Given the description of an element on the screen output the (x, y) to click on. 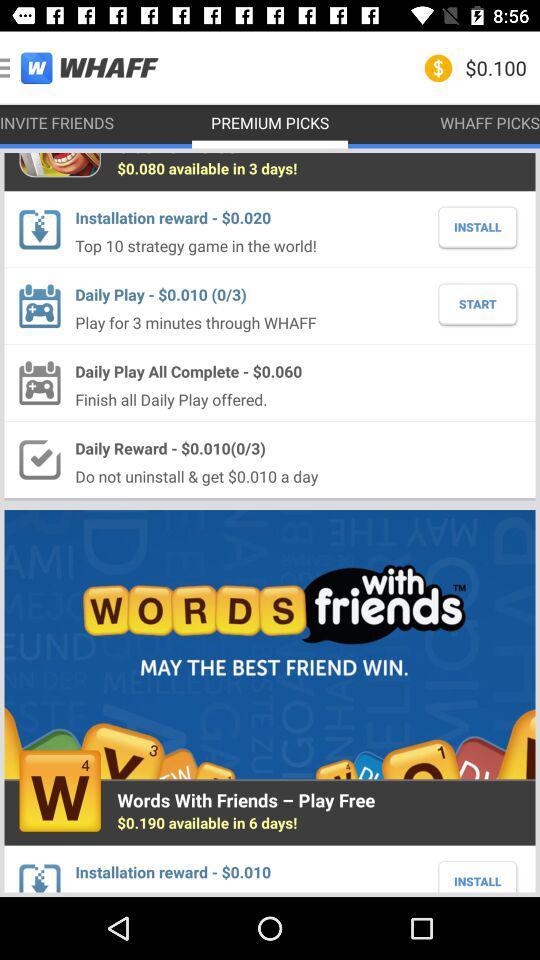
click the item to the right of the play for 3 icon (477, 304)
